Given the description of an element on the screen output the (x, y) to click on. 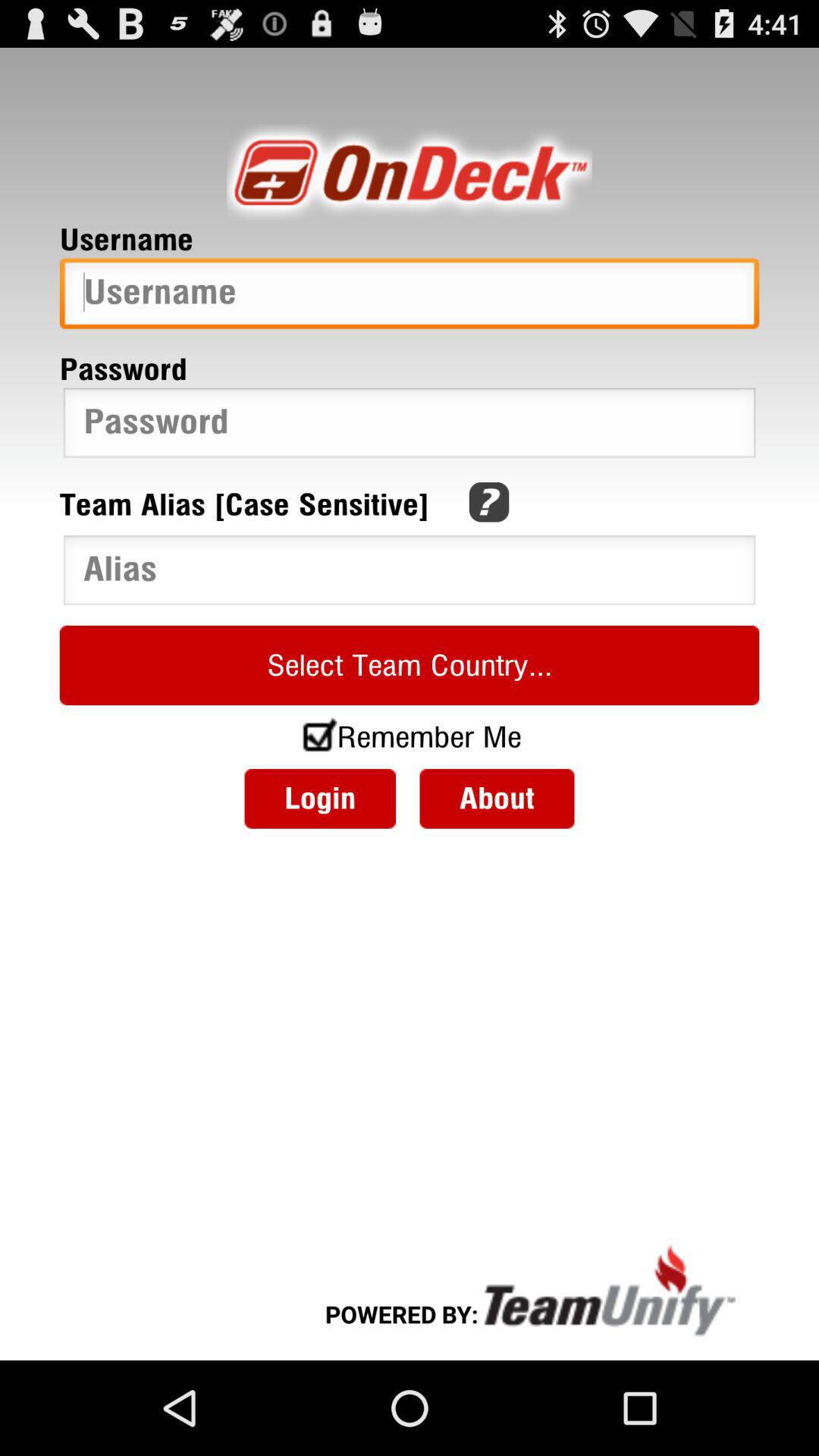
type the username (409, 296)
